Given the description of an element on the screen output the (x, y) to click on. 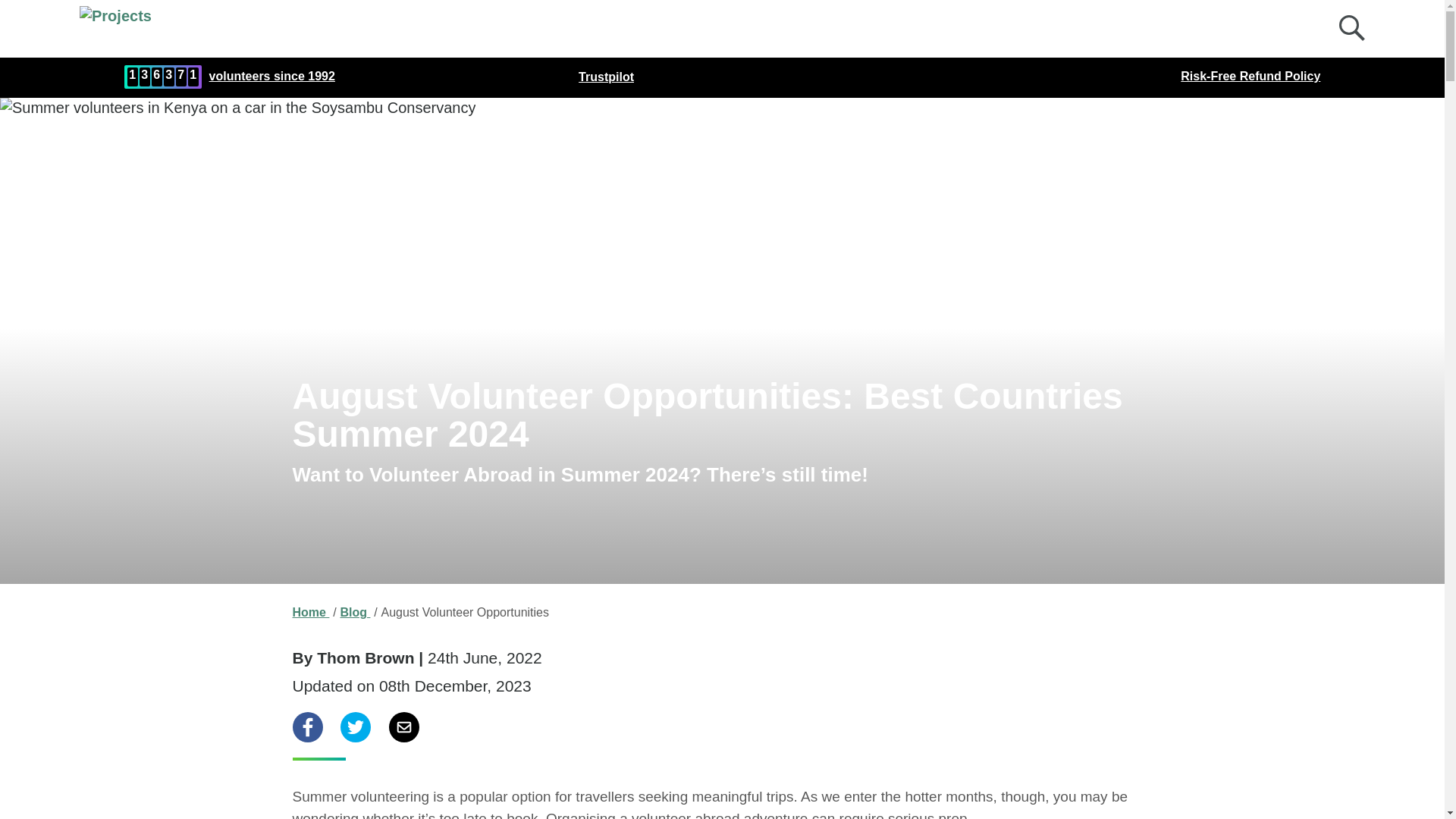
Blog (354, 612)
Trustpilot (605, 76)
Risk-Free Refund Policy (1250, 76)
August Volunteer Opportunities (464, 612)
Search (1356, 31)
Facebook (307, 726)
volunteers since 1992 (271, 76)
Email (403, 726)
Home (311, 612)
Twitter (355, 726)
